Given the description of an element on the screen output the (x, y) to click on. 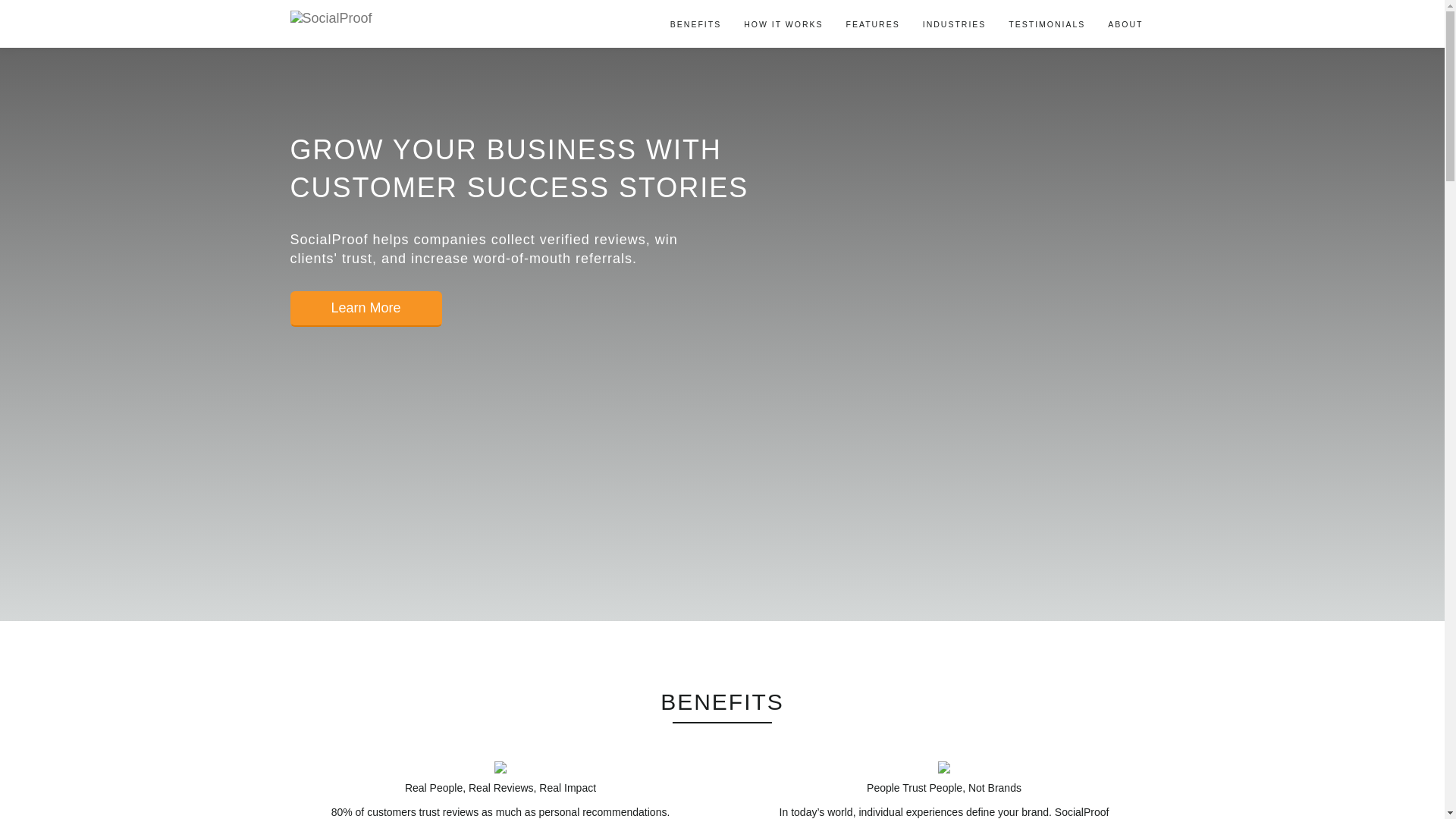
FEATURES (872, 23)
BENEFITS (695, 23)
HOW IT WORKS (783, 23)
INDUSTRIES (954, 23)
Learn More (365, 308)
ABOUT (1125, 23)
TESTIMONIALS (1046, 23)
